Given the description of an element on the screen output the (x, y) to click on. 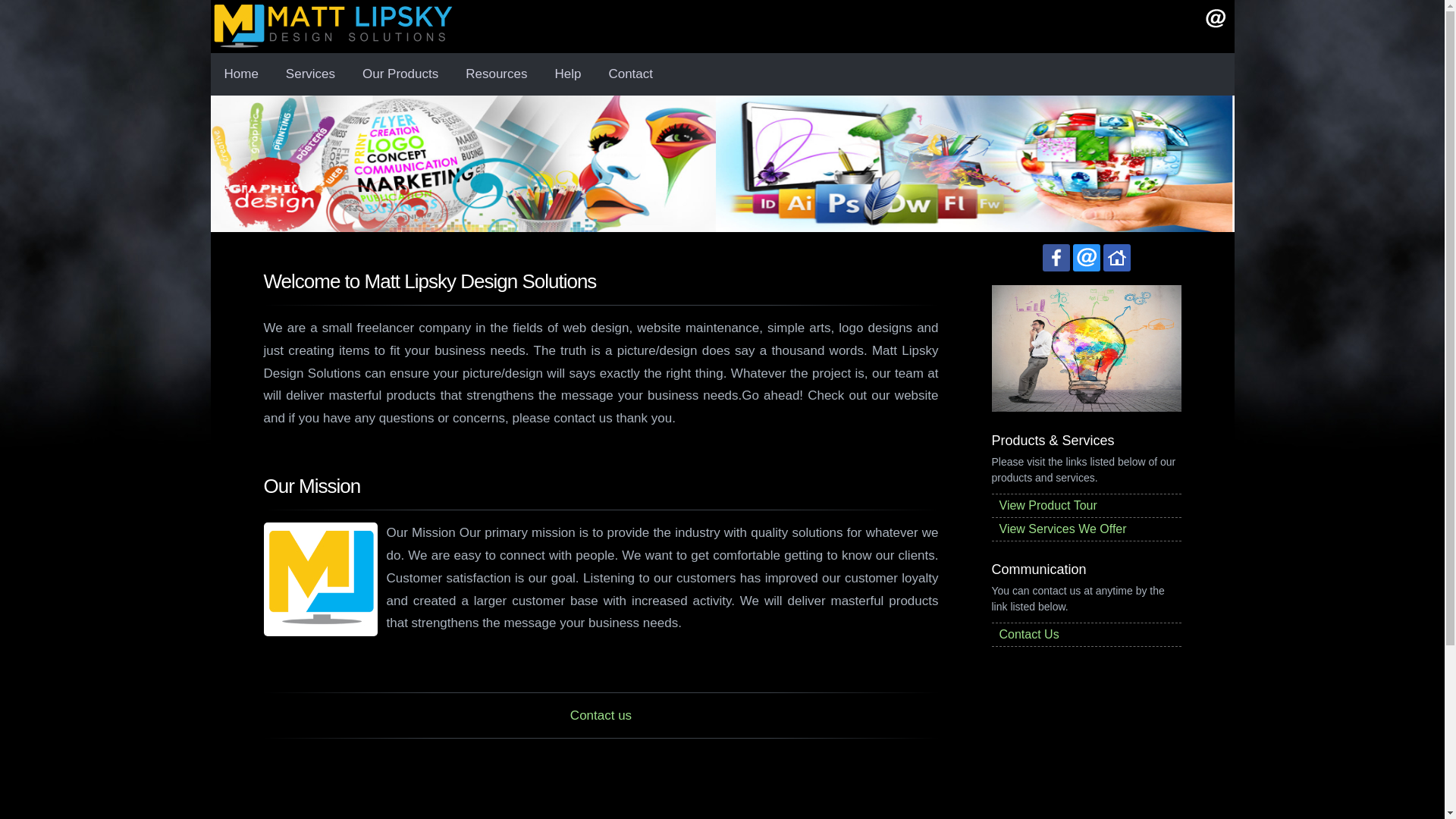
Resources (495, 74)
Contact Us (1085, 634)
Services (310, 74)
View Services We Offer (1085, 529)
Help (567, 74)
View Product Tour (1085, 505)
Our Products (400, 74)
Contact us (600, 715)
Home (241, 74)
Contact (630, 74)
